Given the description of an element on the screen output the (x, y) to click on. 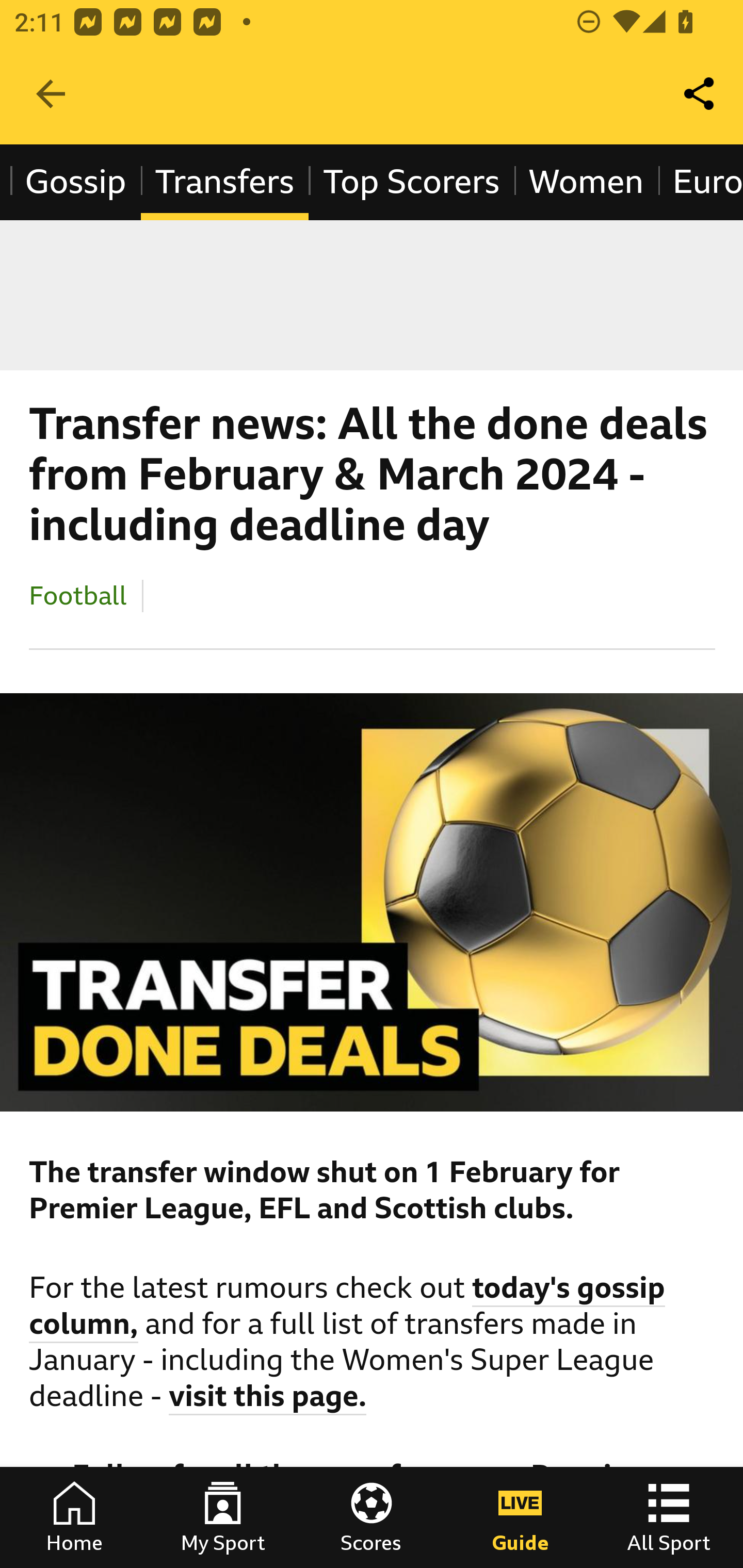
Navigate up (50, 93)
Share (699, 93)
Gossip (74, 181)
Transfers (224, 181)
Top Scorers (410, 181)
Women (585, 181)
Football (77, 594)
today's gossip column, (347, 1307)
visit this page. (267, 1398)
Home (74, 1517)
My Sport (222, 1517)
Scores (371, 1517)
All Sport (668, 1517)
